Given the description of an element on the screen output the (x, y) to click on. 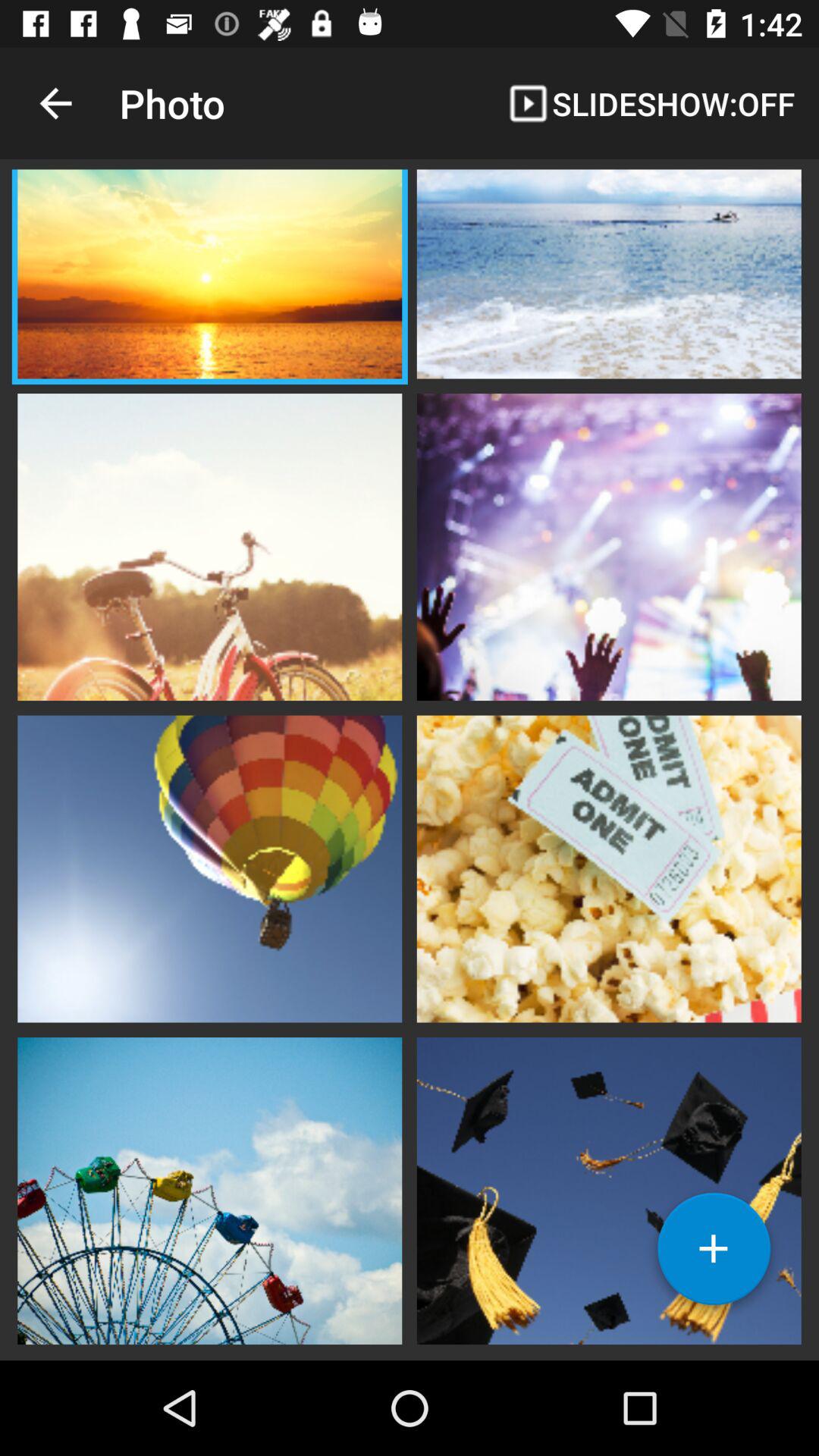
select photo (209, 867)
